Given the description of an element on the screen output the (x, y) to click on. 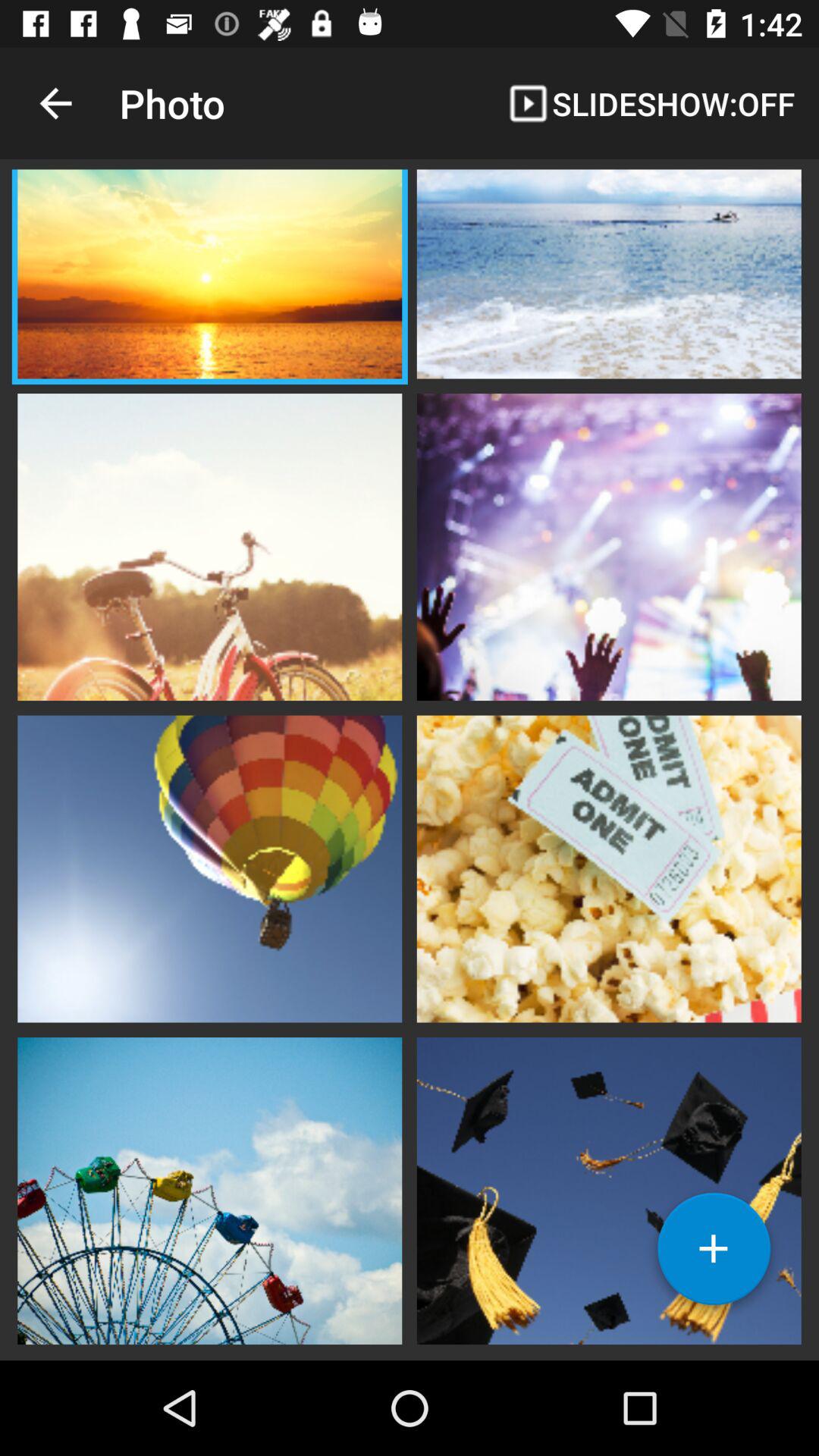
select photo (209, 867)
